Given the description of an element on the screen output the (x, y) to click on. 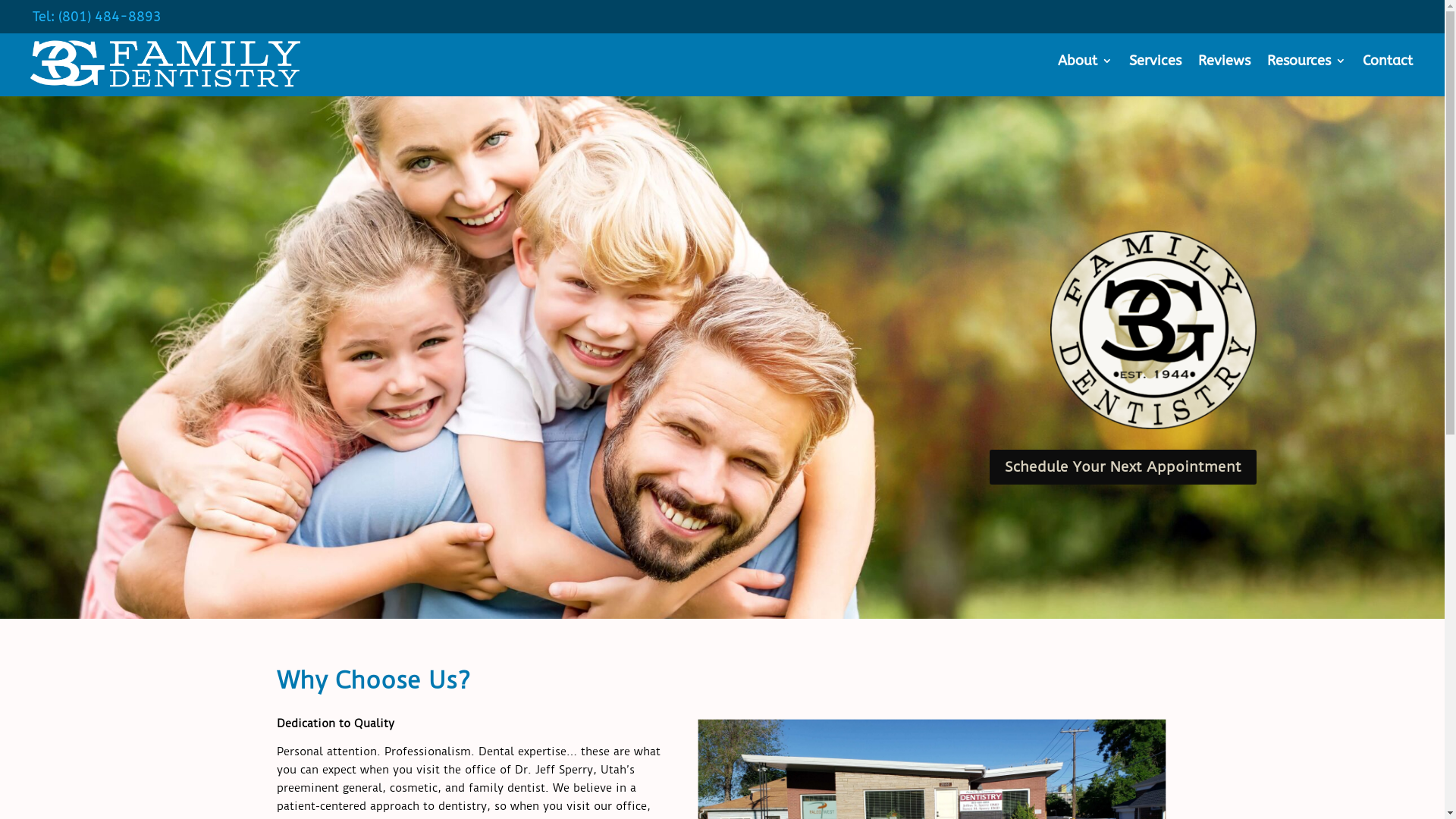
sperry dental sign_white Element type: hover (165, 63)
Tel: (801) 484-8893 Element type: text (96, 16)
Schedule Your Next Appointment Element type: text (1122, 466)
Contact Element type: text (1387, 64)
About Element type: text (1084, 64)
Reviews Element type: text (1224, 64)
Resources Element type: text (1306, 64)
Services Element type: text (1155, 64)
